Given the description of an element on the screen output the (x, y) to click on. 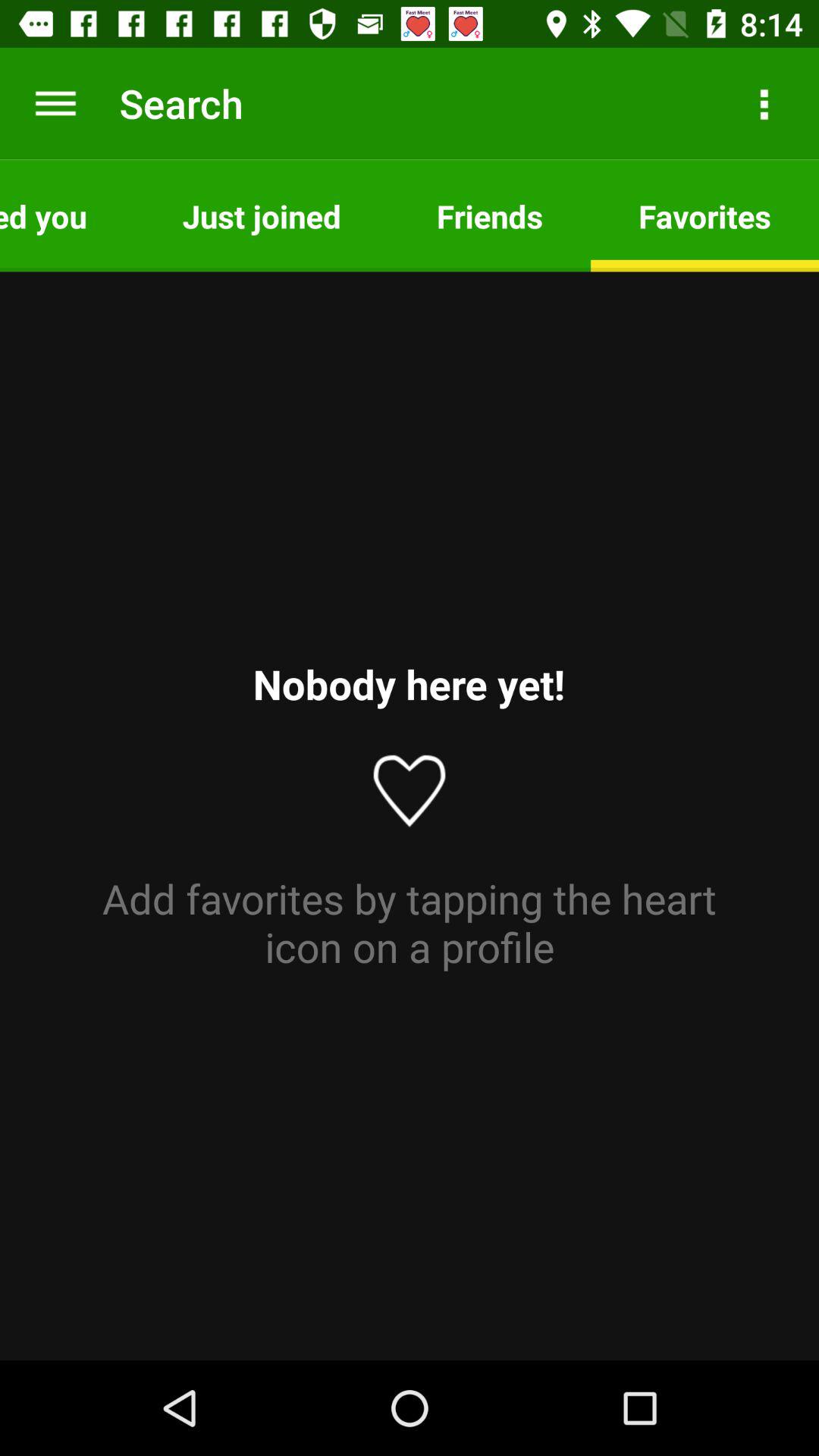
select just joined item (261, 215)
